Given the description of an element on the screen output the (x, y) to click on. 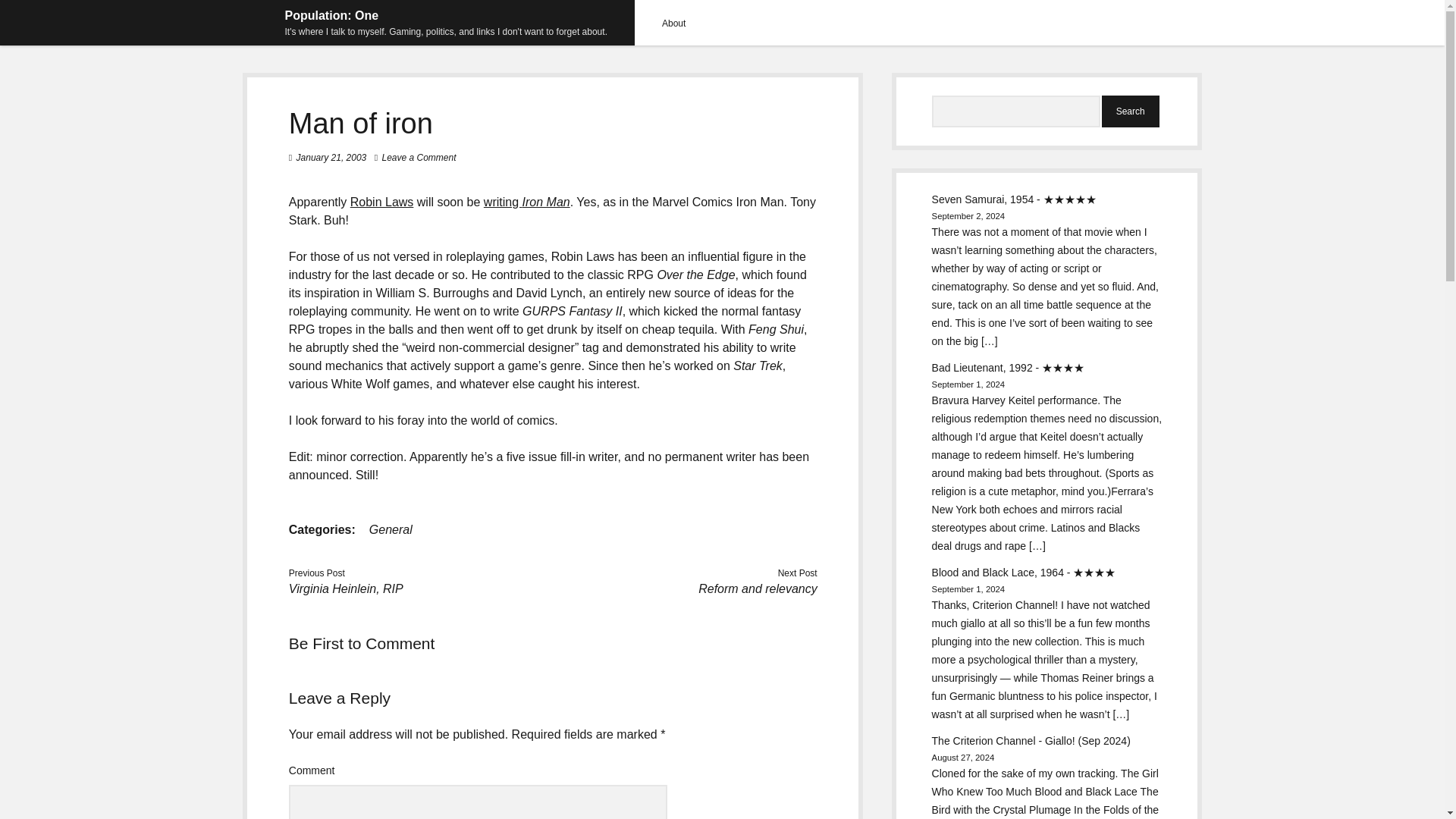
About (673, 23)
writing Iron Man (526, 201)
Population: One (331, 15)
Reform and relevancy (757, 588)
Search (1130, 111)
Leave a Comment (418, 157)
January 21, 2003 (331, 157)
Search (1130, 111)
Mile High Comics presents... COMICON.com PULSE (526, 201)
View all posts in General (390, 529)
